Given the description of an element on the screen output the (x, y) to click on. 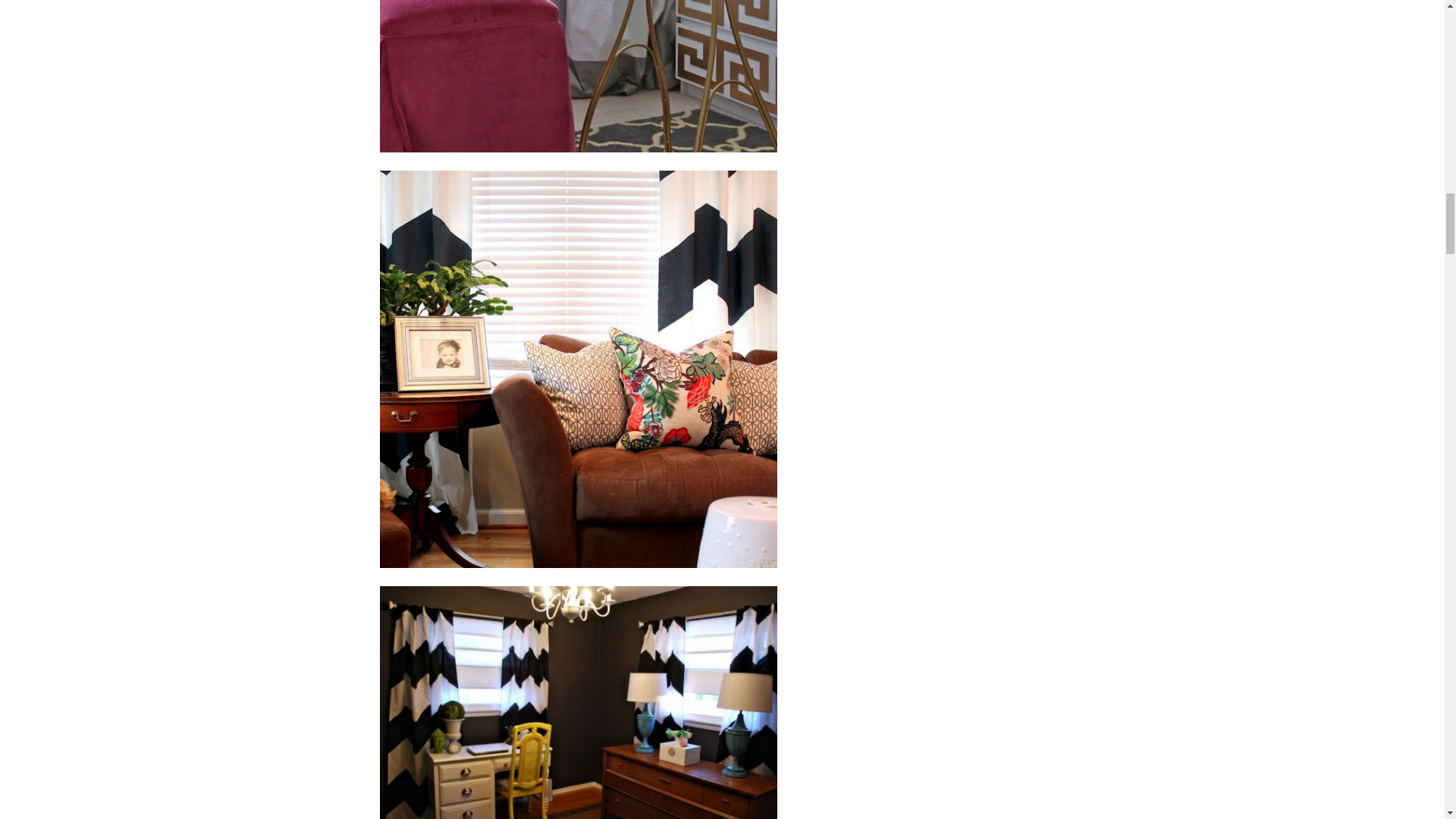
6 (577, 702)
4 (577, 76)
